Given the description of an element on the screen output the (x, y) to click on. 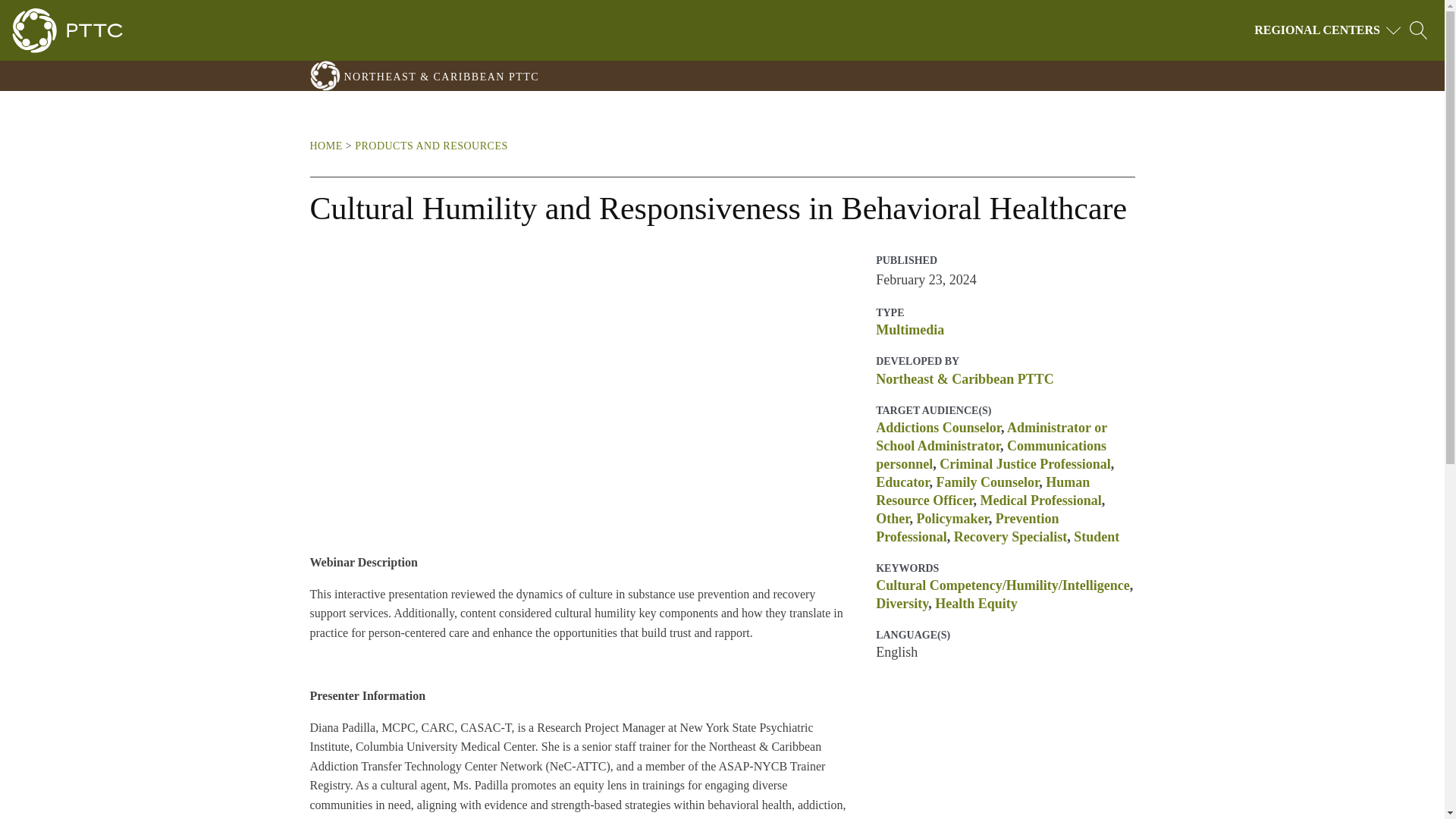
Human Resource Officer (982, 491)
Multimedia (909, 329)
Prevention Professional (967, 527)
Policymaker (951, 518)
PRODUCTS AND RESOURCES (431, 145)
HOME (325, 145)
Educator (902, 482)
Other (892, 518)
Addictions Counselor (938, 427)
Criminal Justice Professional (1024, 463)
